Given the description of an element on the screen output the (x, y) to click on. 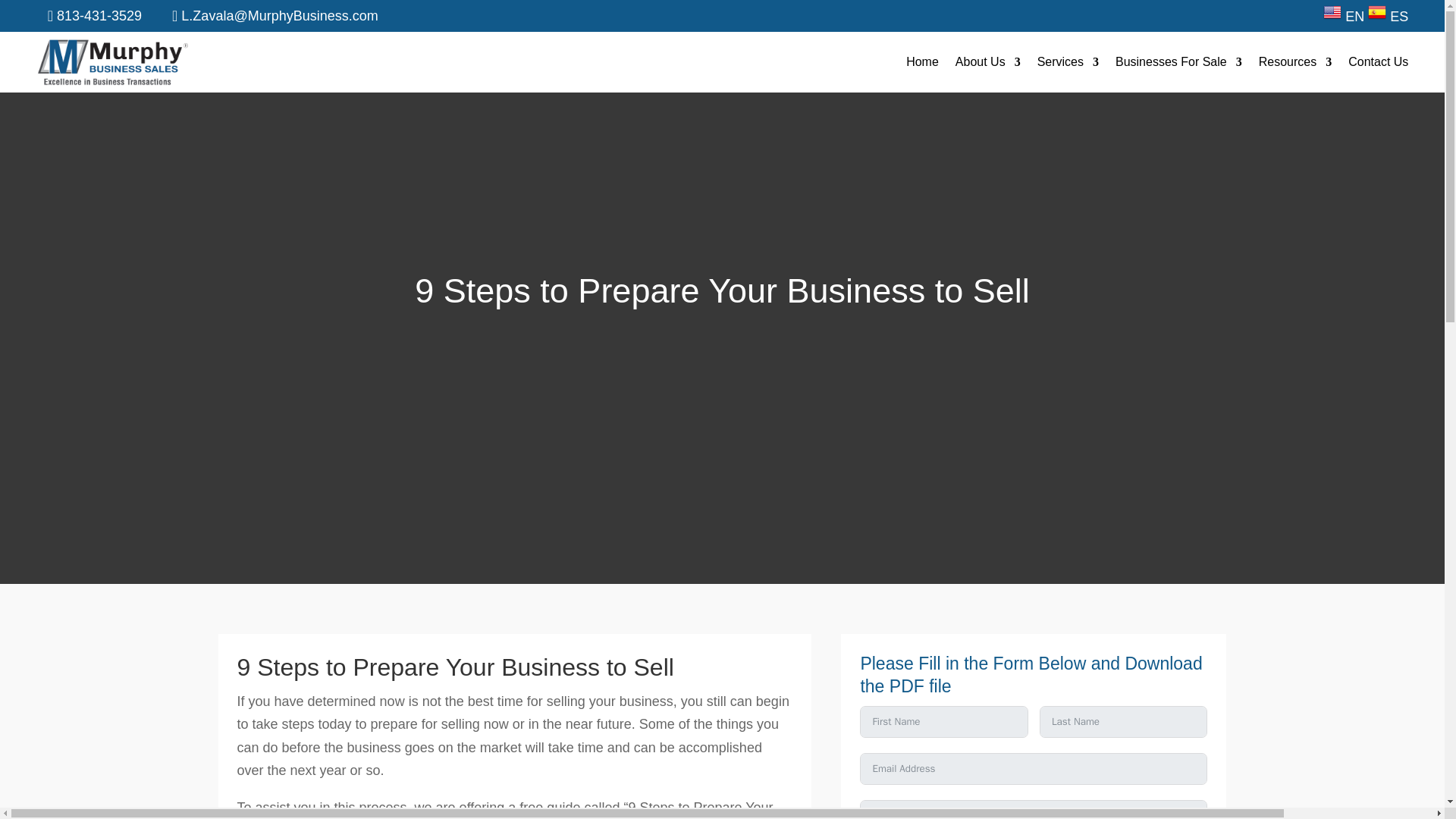
About Us (987, 64)
Services (1067, 64)
Contact Us (1377, 64)
Spanish (1387, 16)
Resources (1295, 64)
Murphy-Brand-Mark-removebg-preview (111, 62)
English (1343, 16)
Home (922, 64)
Businesses For Sale (1178, 64)
ES (1387, 16)
